Given the description of an element on the screen output the (x, y) to click on. 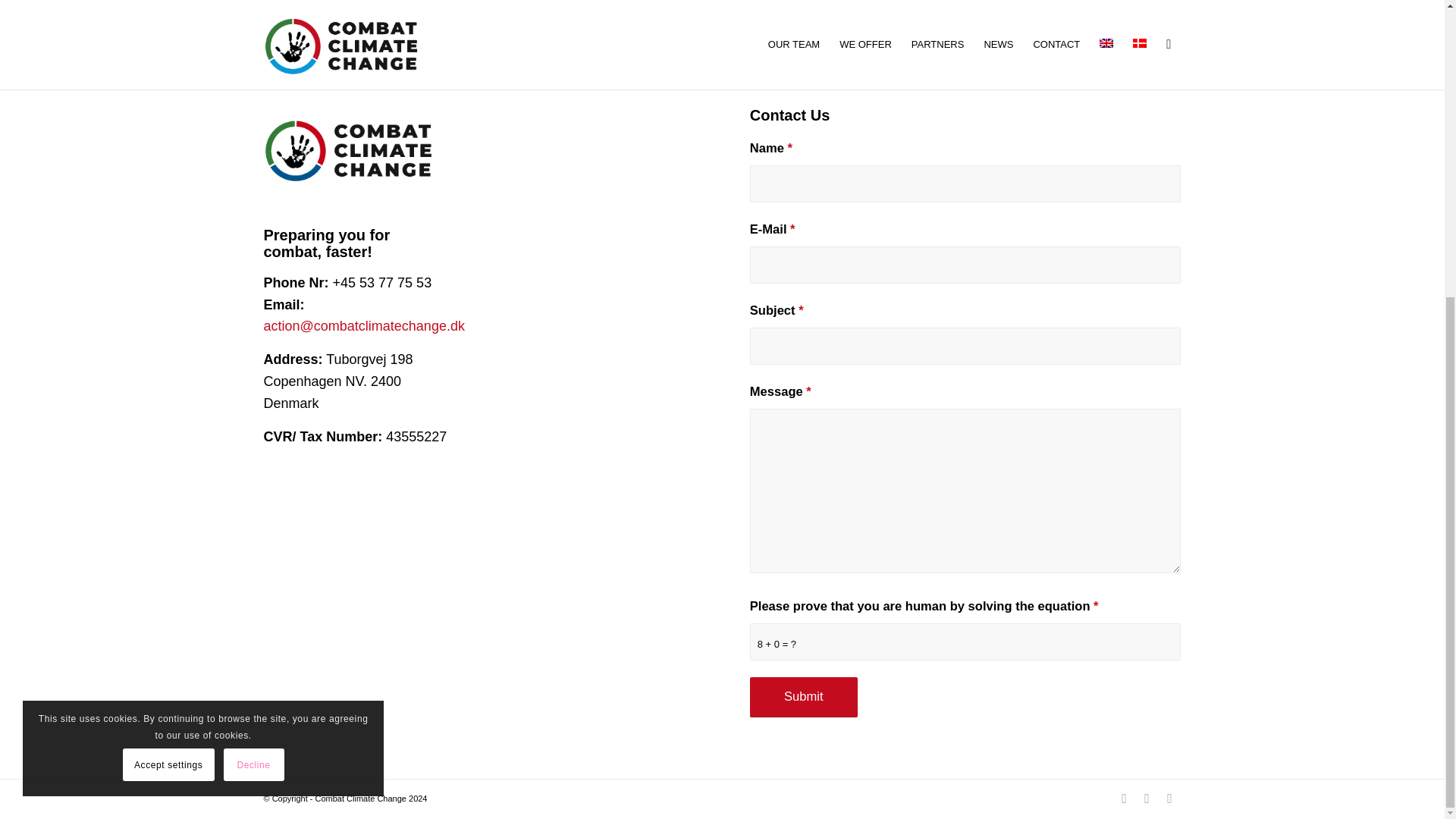
X (1146, 798)
Instagram (1169, 798)
Submit (803, 697)
Accept settings (168, 305)
Decline (252, 305)
LinkedIn (1124, 798)
Submit (803, 697)
